Given the description of an element on the screen output the (x, y) to click on. 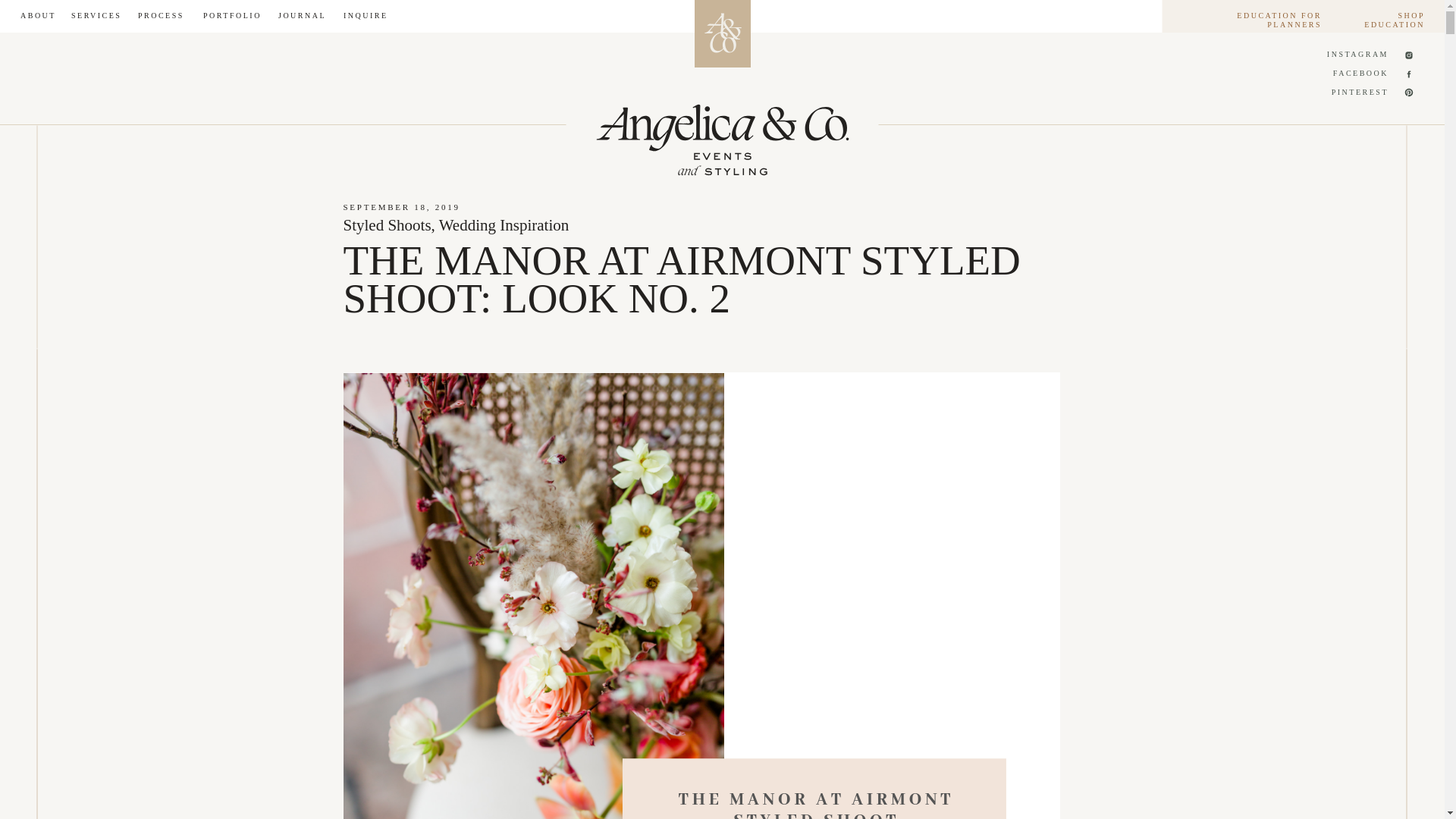
PROCESS (162, 16)
Wedding Inspiration (504, 225)
SERVICES (96, 16)
INSTAGRAM (1356, 56)
PORTFOLIO (232, 16)
Styled Shoots (386, 225)
ABOUT (37, 16)
FACEBOOK (1357, 74)
PINTEREST (1357, 93)
EDUCATION FOR PLANNERS (1252, 16)
JOURNAL (302, 16)
SHOP EDUCATION (1380, 16)
INQUIRE (365, 16)
